Given the description of an element on the screen output the (x, y) to click on. 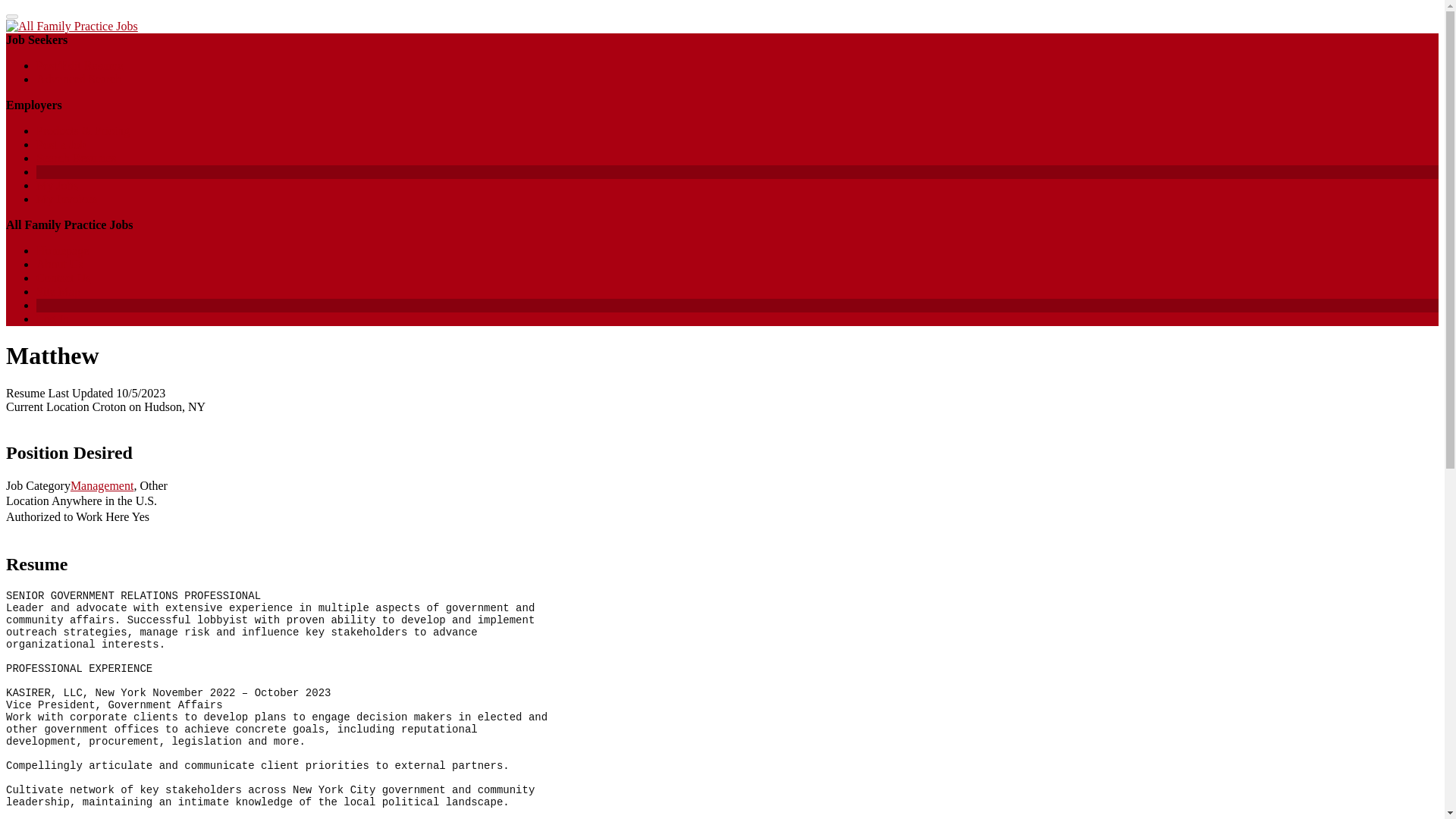
About Us (59, 264)
Advanced Search (78, 78)
Homepage (62, 250)
Log In (52, 318)
Site Map (58, 291)
My Invoices (66, 198)
Contact Us (63, 277)
My Jobs (57, 185)
Post a Job (60, 144)
Search Resumes (76, 157)
Management (101, 485)
